Given the description of an element on the screen output the (x, y) to click on. 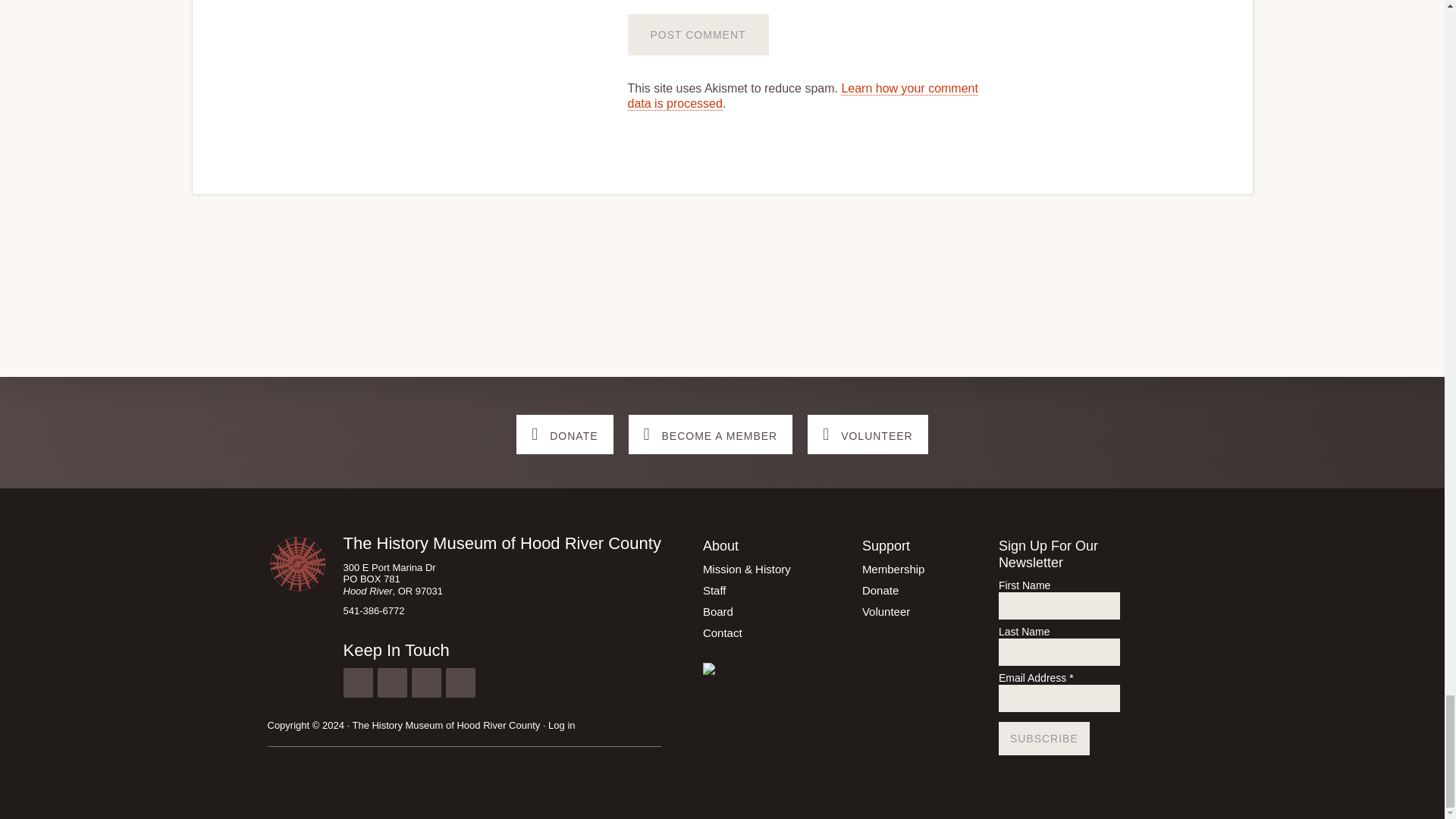
Post Comment (697, 34)
